Given the description of an element on the screen output the (x, y) to click on. 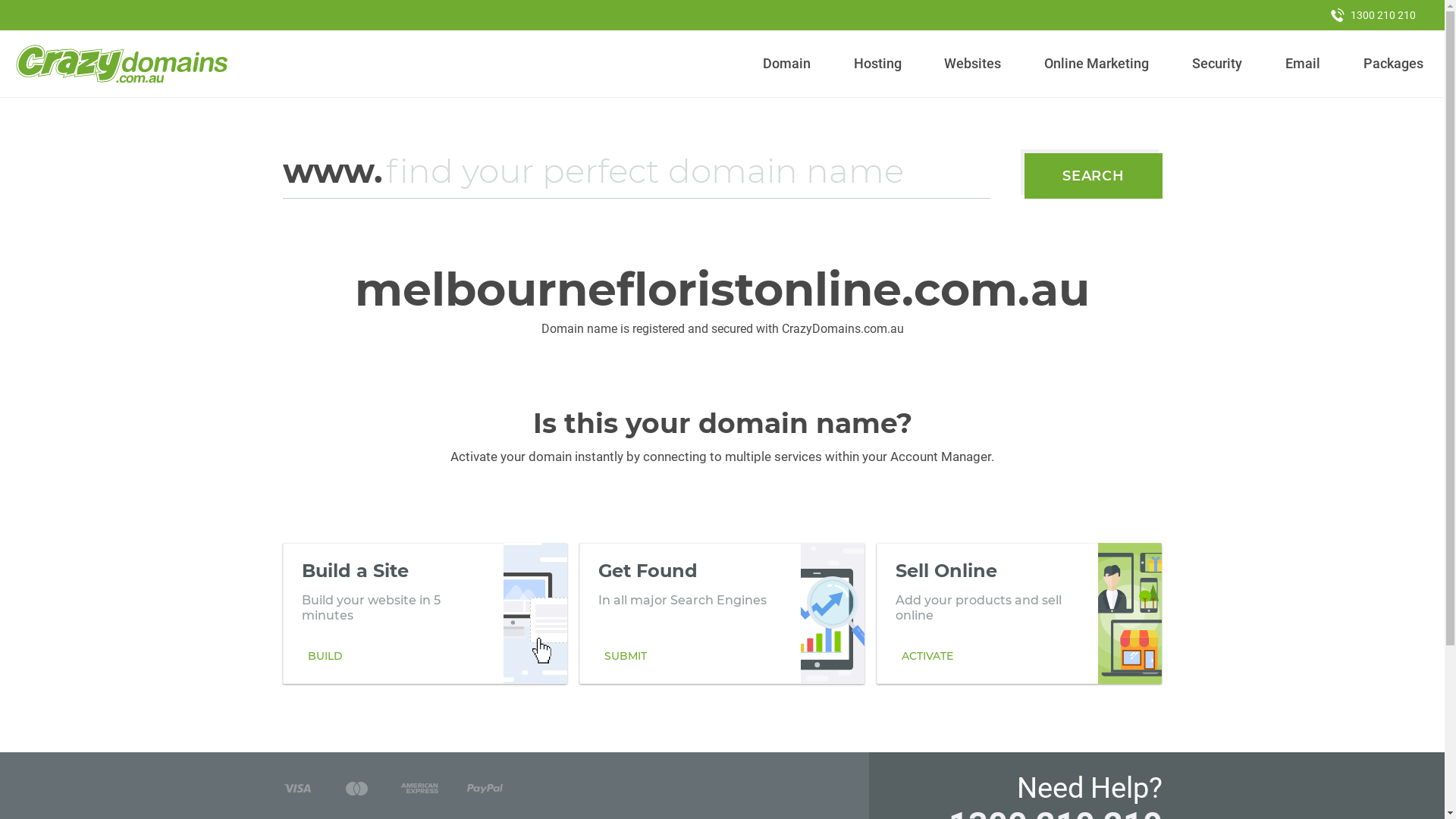
Domain Element type: text (786, 63)
Security Element type: text (1217, 63)
Online Marketing Element type: text (1096, 63)
Build a Site
Build your website in 5 minutes
BUILD Element type: text (424, 613)
SEARCH Element type: text (1092, 175)
Hosting Element type: text (877, 63)
Packages Element type: text (1392, 63)
Get Found
In all major Search Engines
SUBMIT Element type: text (721, 613)
Sell Online
Add your products and sell online
ACTIVATE Element type: text (1018, 613)
Websites Element type: text (972, 63)
1300 210 210 Element type: text (1373, 15)
Email Element type: text (1302, 63)
